Given the description of an element on the screen output the (x, y) to click on. 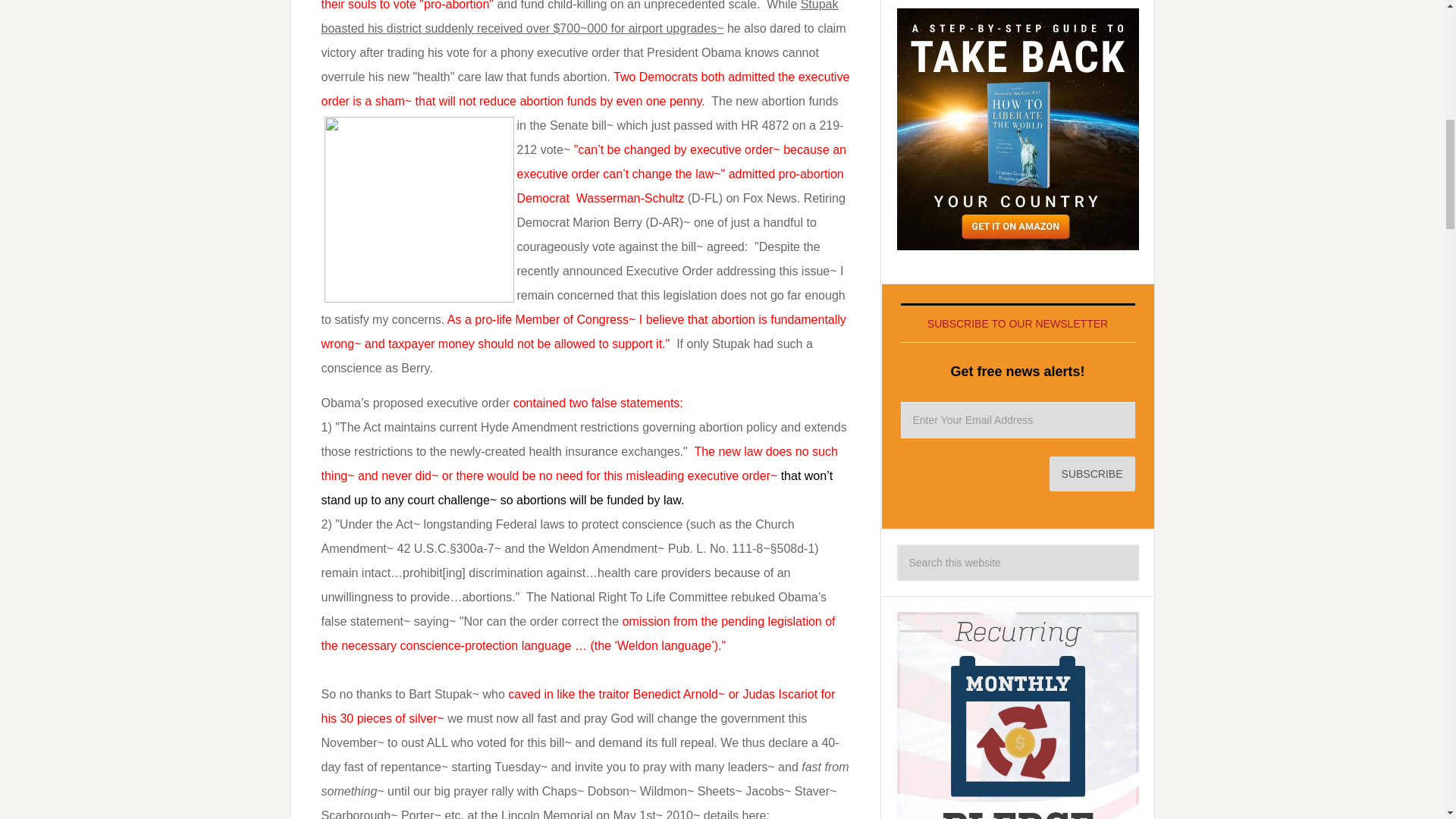
Subscribe (1092, 473)
